Given the description of an element on the screen output the (x, y) to click on. 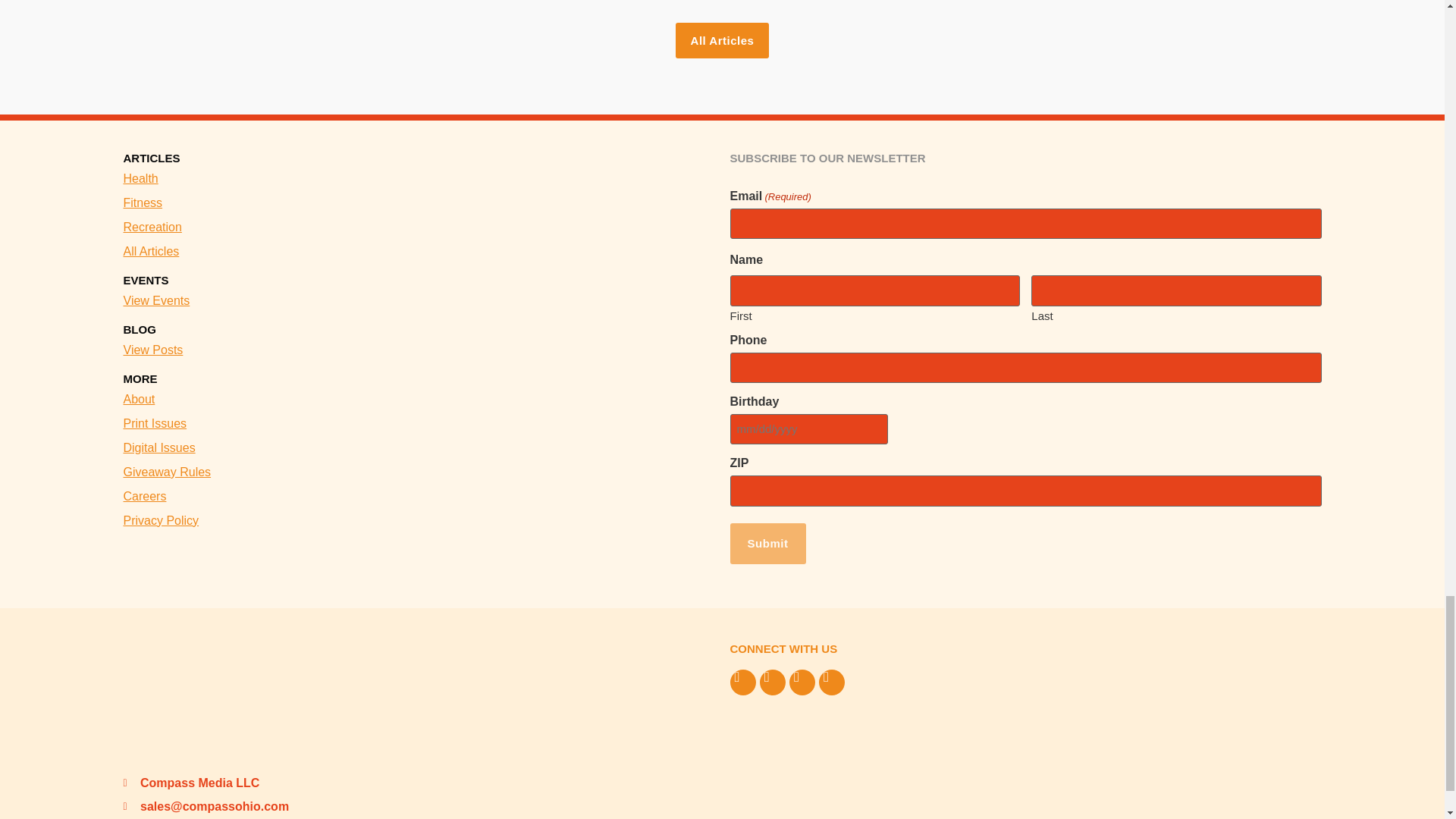
Submit (767, 544)
